Given the description of an element on the screen output the (x, y) to click on. 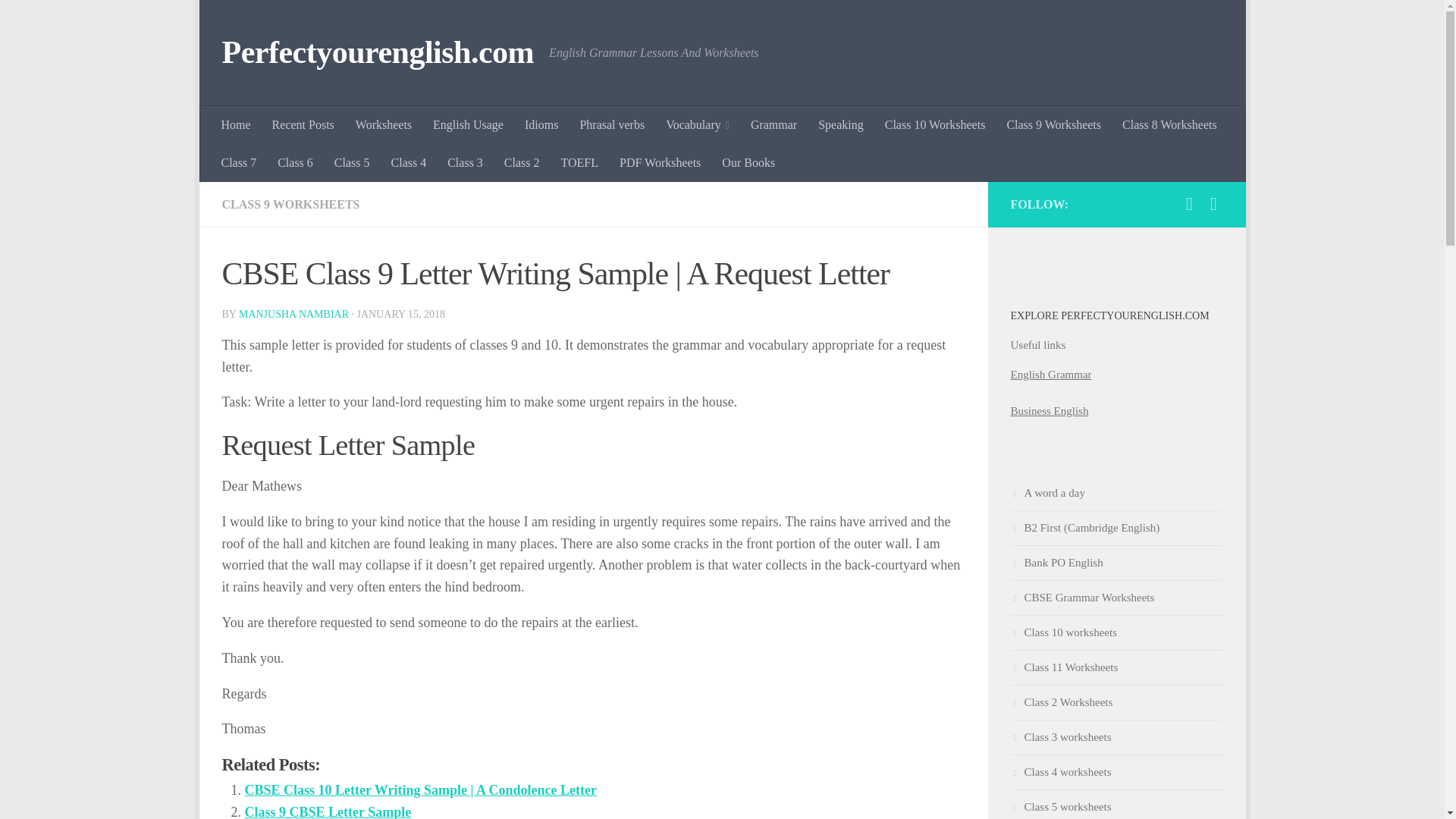
Class 9 CBSE Letter Sample (327, 811)
Skip to content (258, 20)
Vocabulary (697, 125)
Class 10 Worksheets (935, 125)
Grammar (773, 125)
Home (236, 125)
English Usage (467, 125)
Follow us on Facebook (1188, 203)
Phrasal verbs (612, 125)
Worksheets (383, 125)
